Given the description of an element on the screen output the (x, y) to click on. 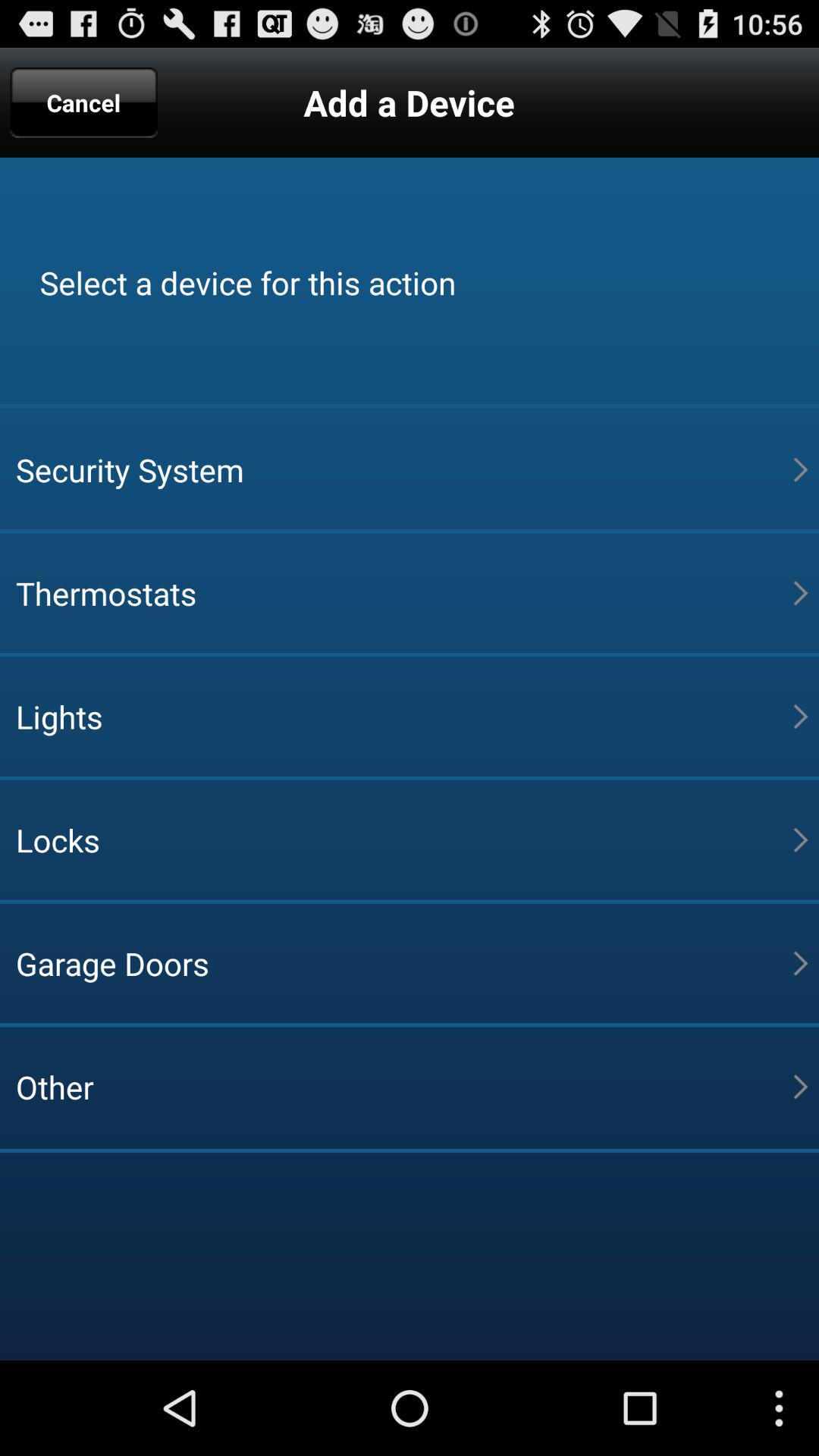
tap the icon above thermostats item (403, 469)
